Given the description of an element on the screen output the (x, y) to click on. 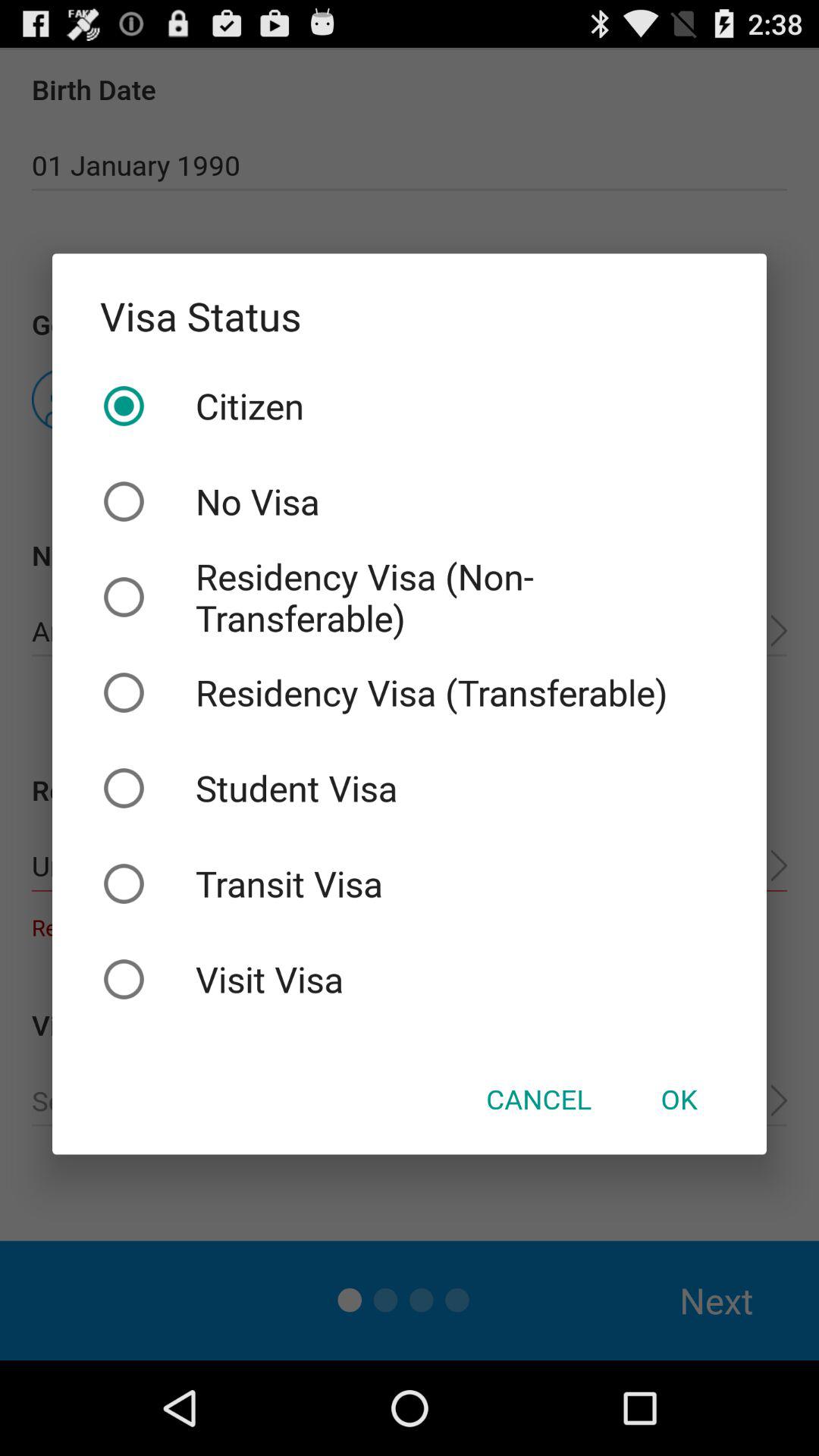
choose the icon to the left of ok (538, 1098)
